Given the description of an element on the screen output the (x, y) to click on. 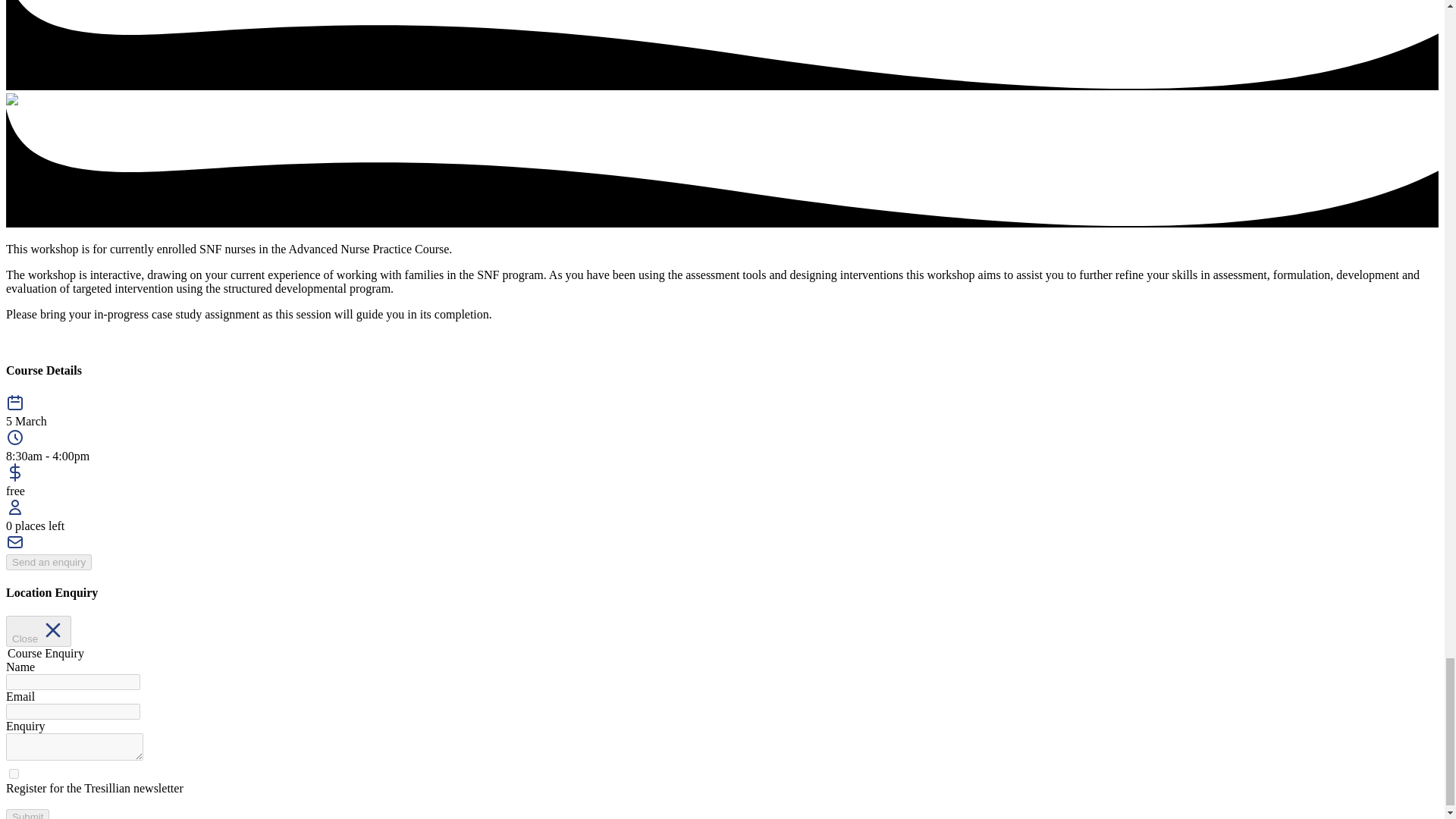
true (13, 773)
